Given the description of an element on the screen output the (x, y) to click on. 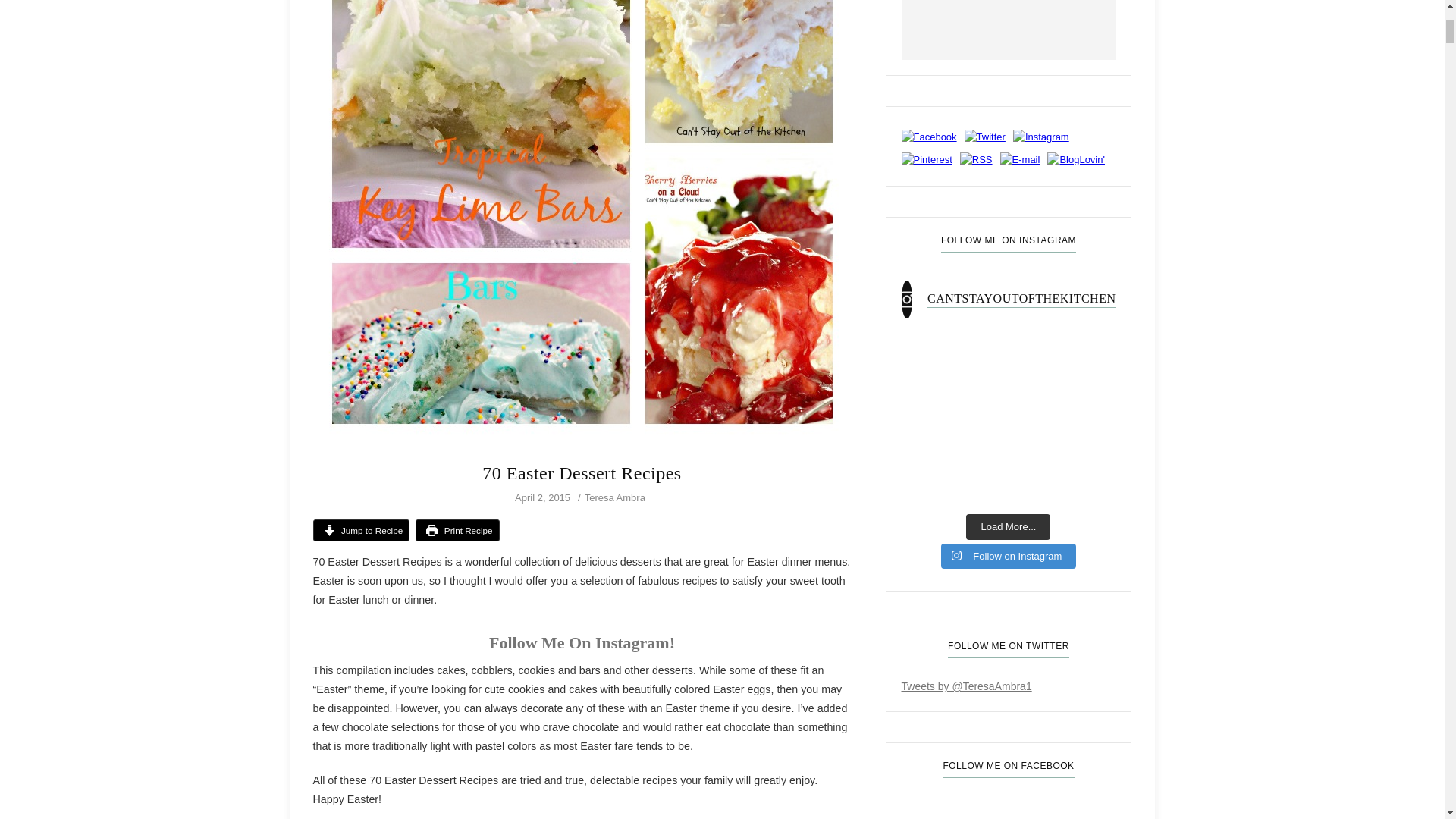
Teresa Ambra (615, 496)
Print Recipe (456, 529)
Follow Me On Instagram! (582, 642)
Jump to Recipe (361, 529)
